Given the description of an element on the screen output the (x, y) to click on. 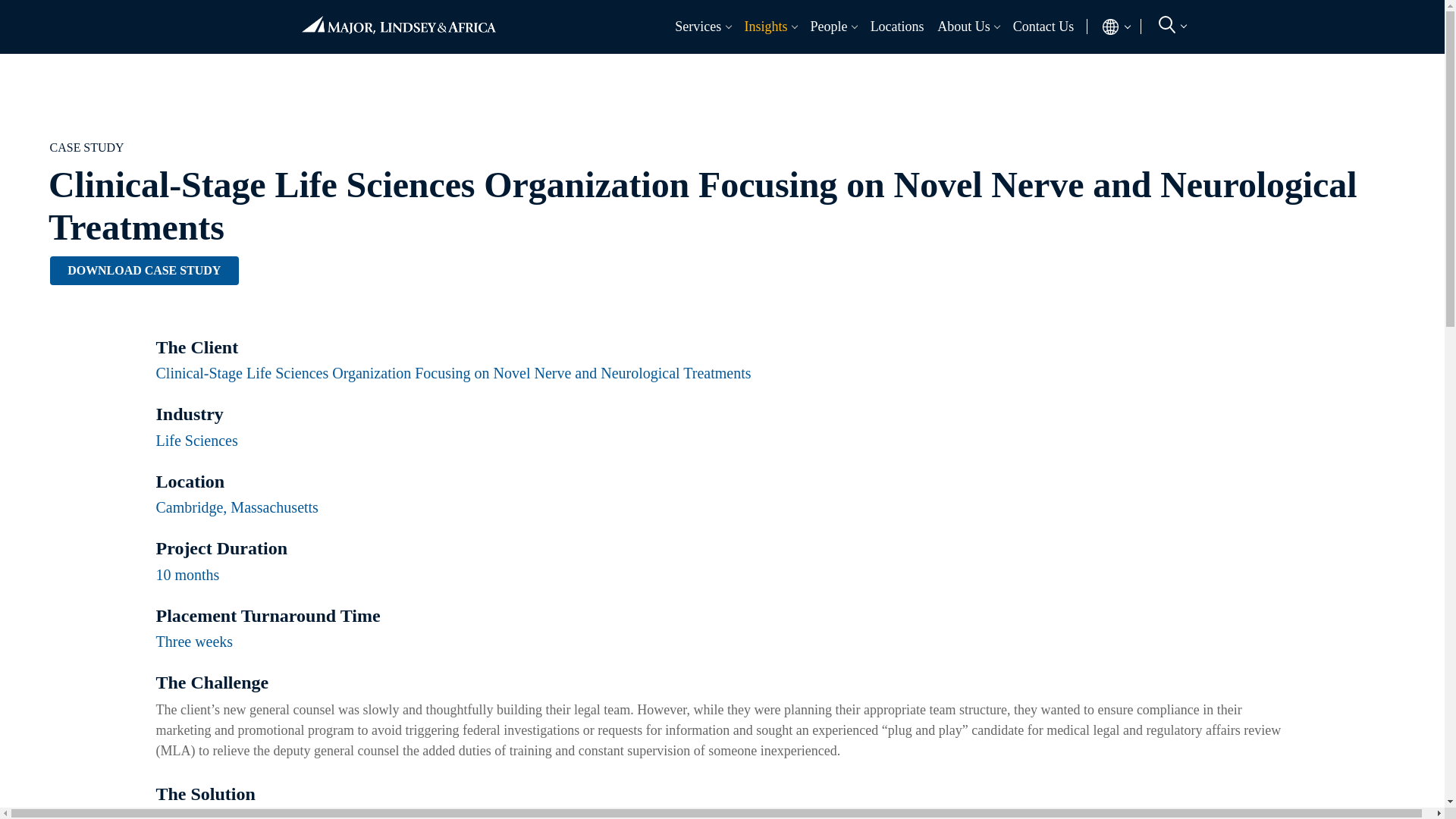
In-House Counsel Recruiting (1046, 60)
Insights (761, 26)
Board Services (614, 60)
Associate Recruiting (397, 60)
Home (397, 18)
DOWNLOAD CASE STUDY (143, 270)
Services (695, 26)
Contact Us (1043, 26)
People (825, 26)
Locations (896, 26)
About Us (960, 26)
